Given the description of an element on the screen output the (x, y) to click on. 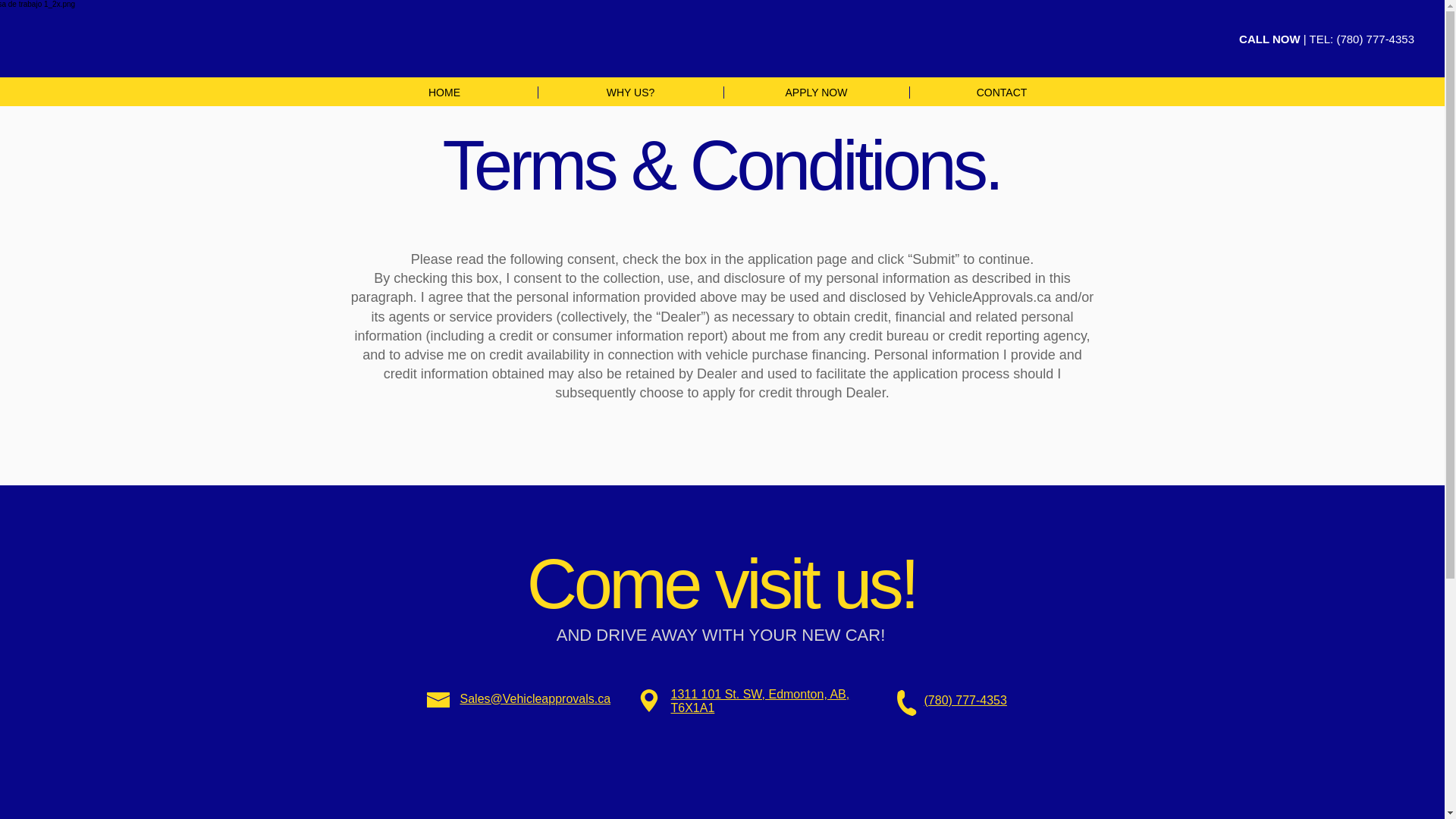
APPLY NOW (815, 92)
HOME (444, 92)
1311 101 St. SW, Edmonton, AB, T6X1A1 (758, 700)
CONTACT (1000, 92)
WHY US? (629, 92)
